Given the description of an element on the screen output the (x, y) to click on. 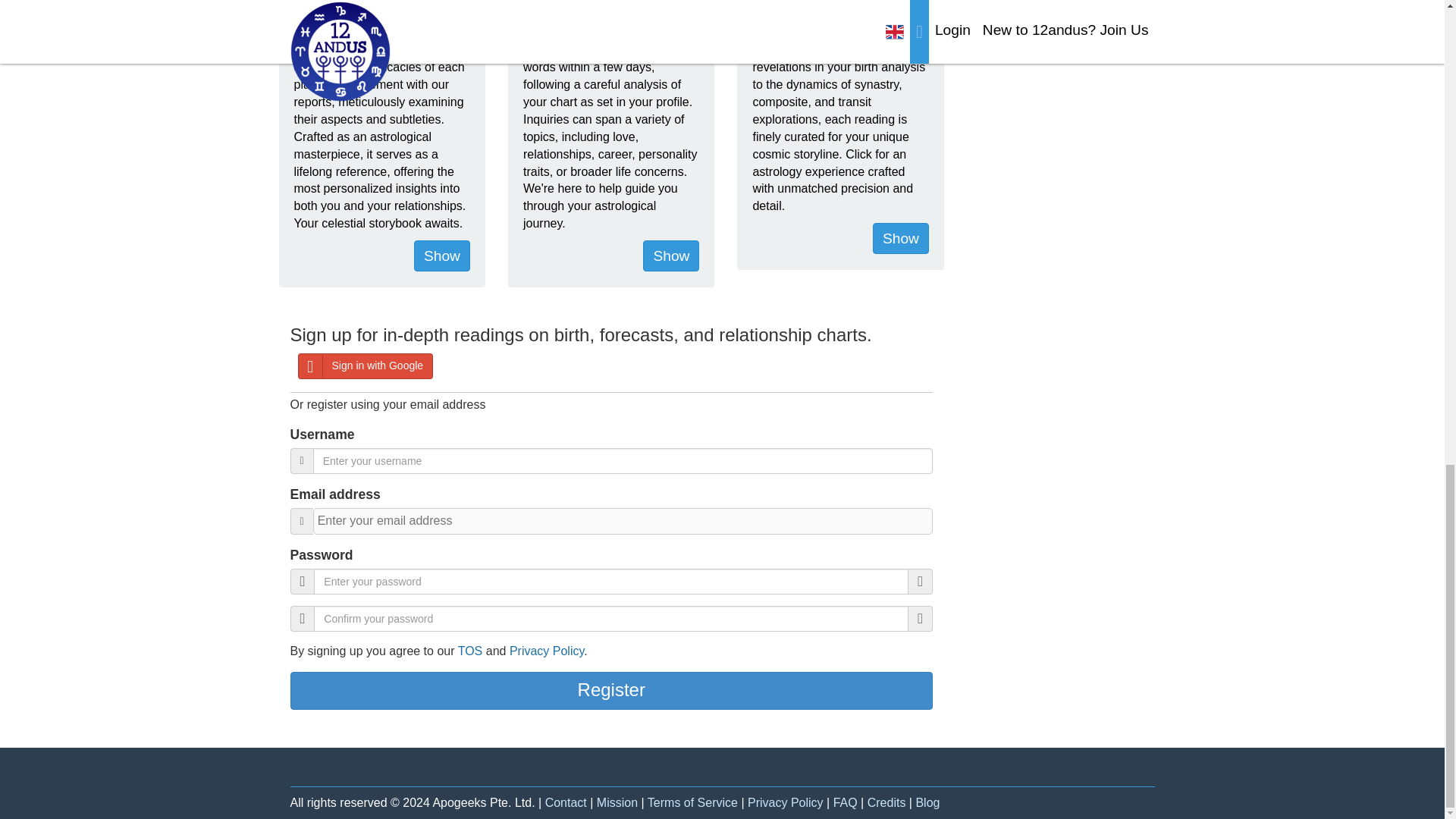
Register (611, 690)
